Given the description of an element on the screen output the (x, y) to click on. 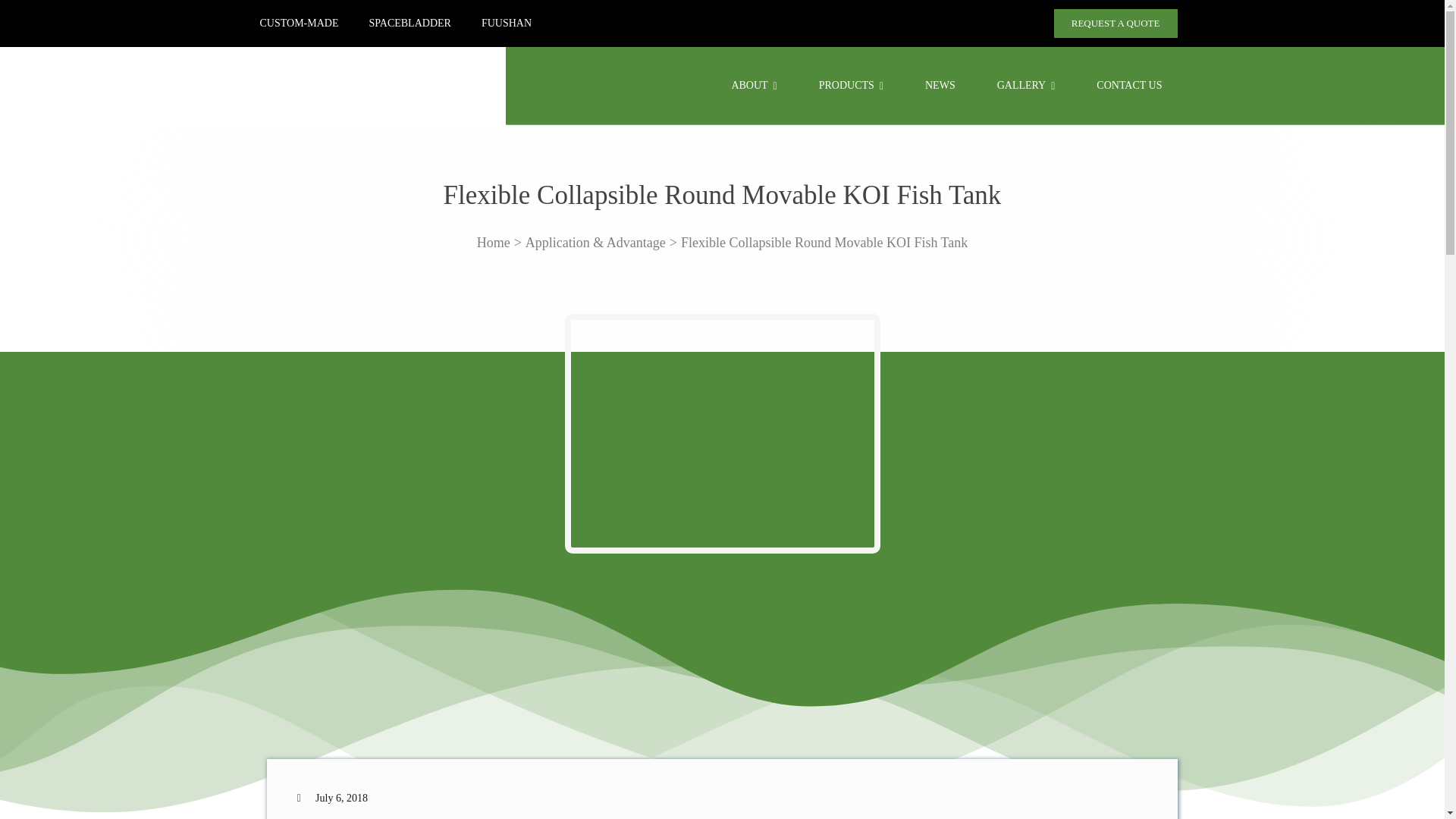
CUSTOM-MADE (298, 23)
Home (494, 242)
Flexible Collapsible Round Movable KOI Fish Tank 1 (721, 433)
PRODUCTS (850, 85)
SPACEBLADDER (408, 23)
NEWS (940, 85)
CONTACT US (1128, 85)
GALLERY (1025, 85)
FUUSHAN (506, 23)
REQUEST A QUOTE (1115, 23)
